Given the description of an element on the screen output the (x, y) to click on. 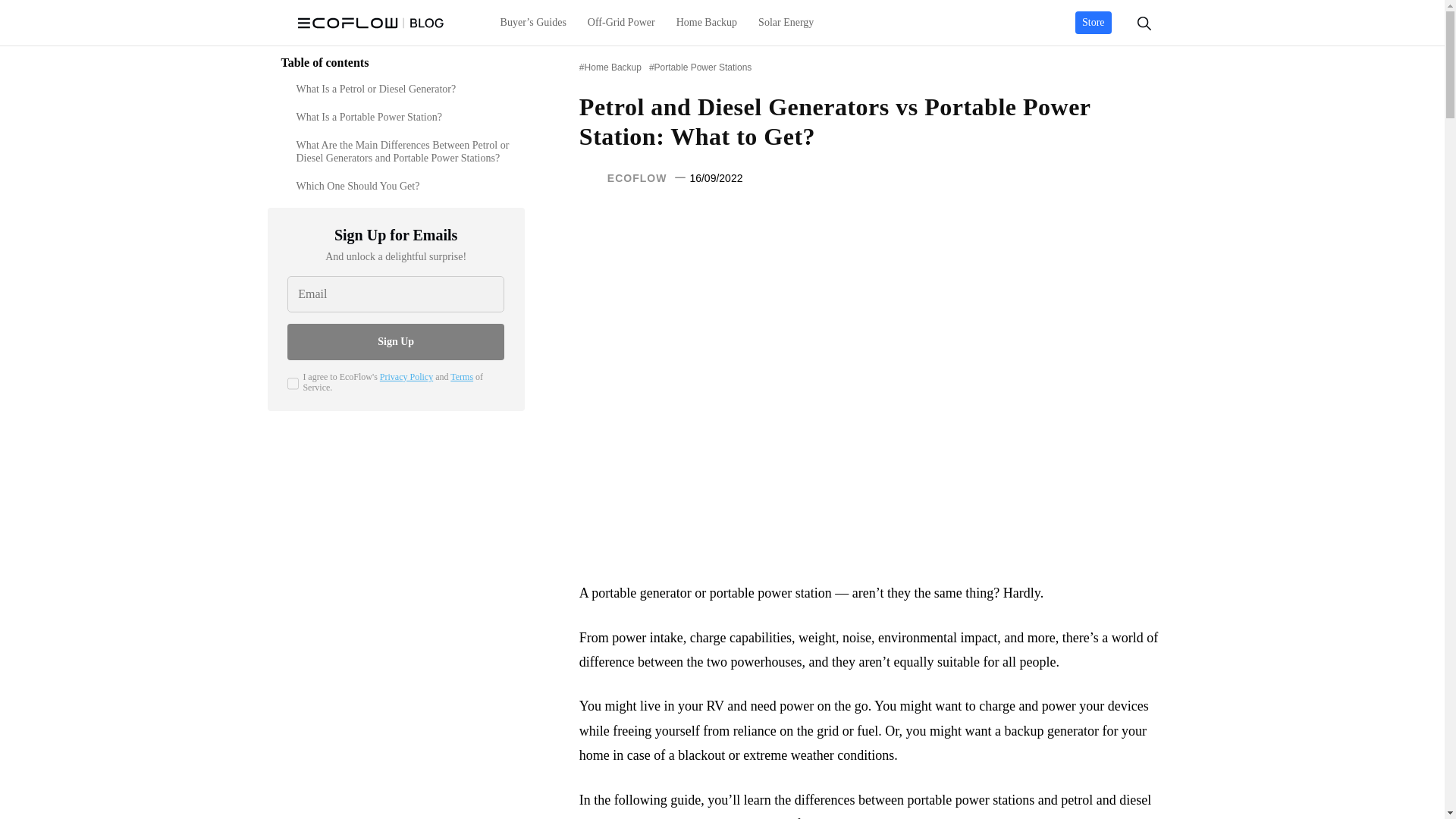
Home Backup (706, 22)
Sign Up (394, 341)
Off-Grid Power (620, 22)
Ecoflow Official Blog (370, 23)
on (292, 383)
